Given the description of an element on the screen output the (x, y) to click on. 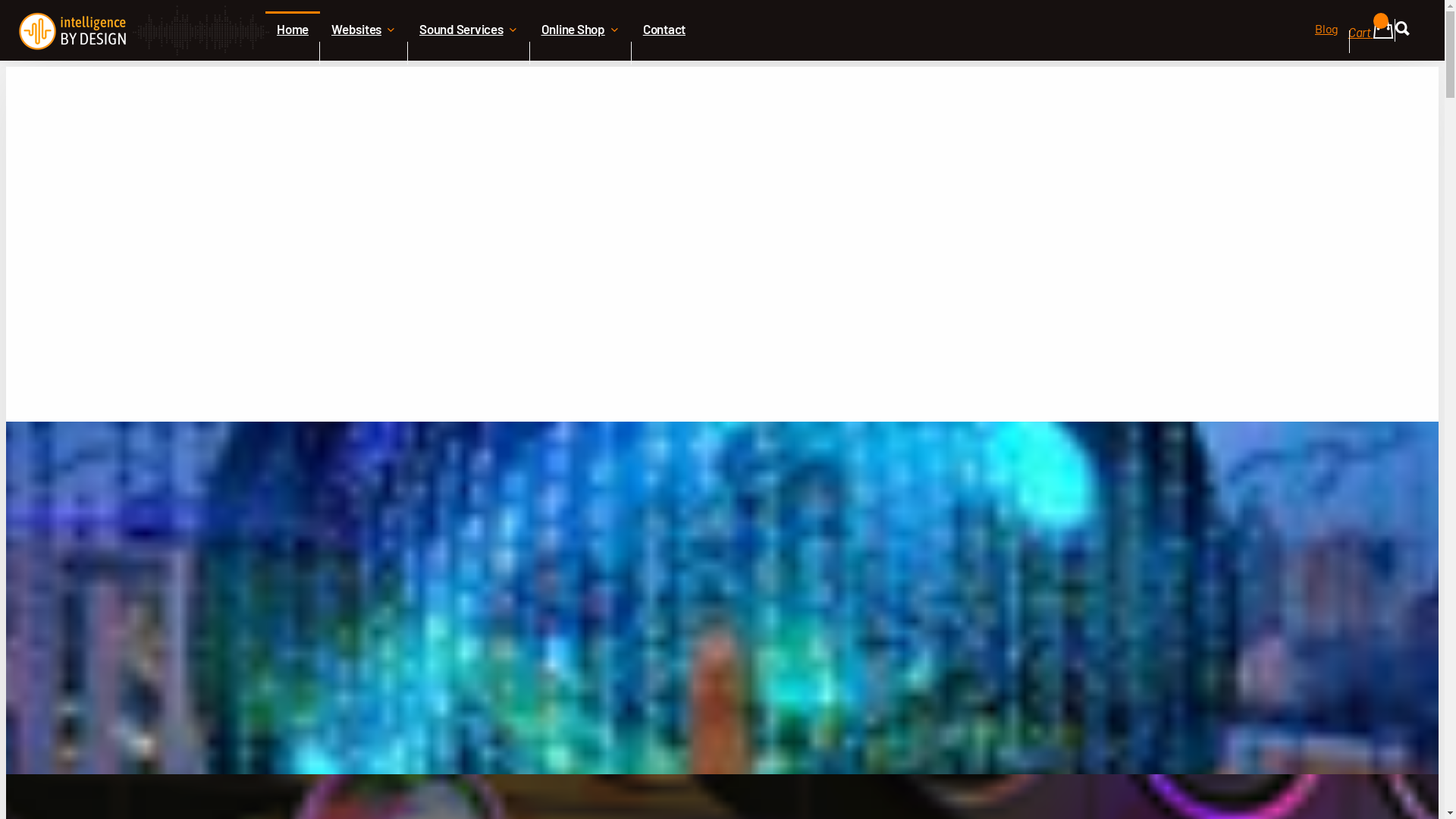
Websites Element type: text (363, 53)
Sound Services Element type: text (468, 53)
Skip to the content Element type: text (721, 12)
Cart Element type: text (1371, 37)
Online Shop Element type: text (579, 53)
Blog Element type: text (1326, 41)
Intelligence By Design PTY LTD Element type: text (143, 29)
Contact Element type: text (663, 53)
Home Element type: text (292, 53)
